Given the description of an element on the screen output the (x, y) to click on. 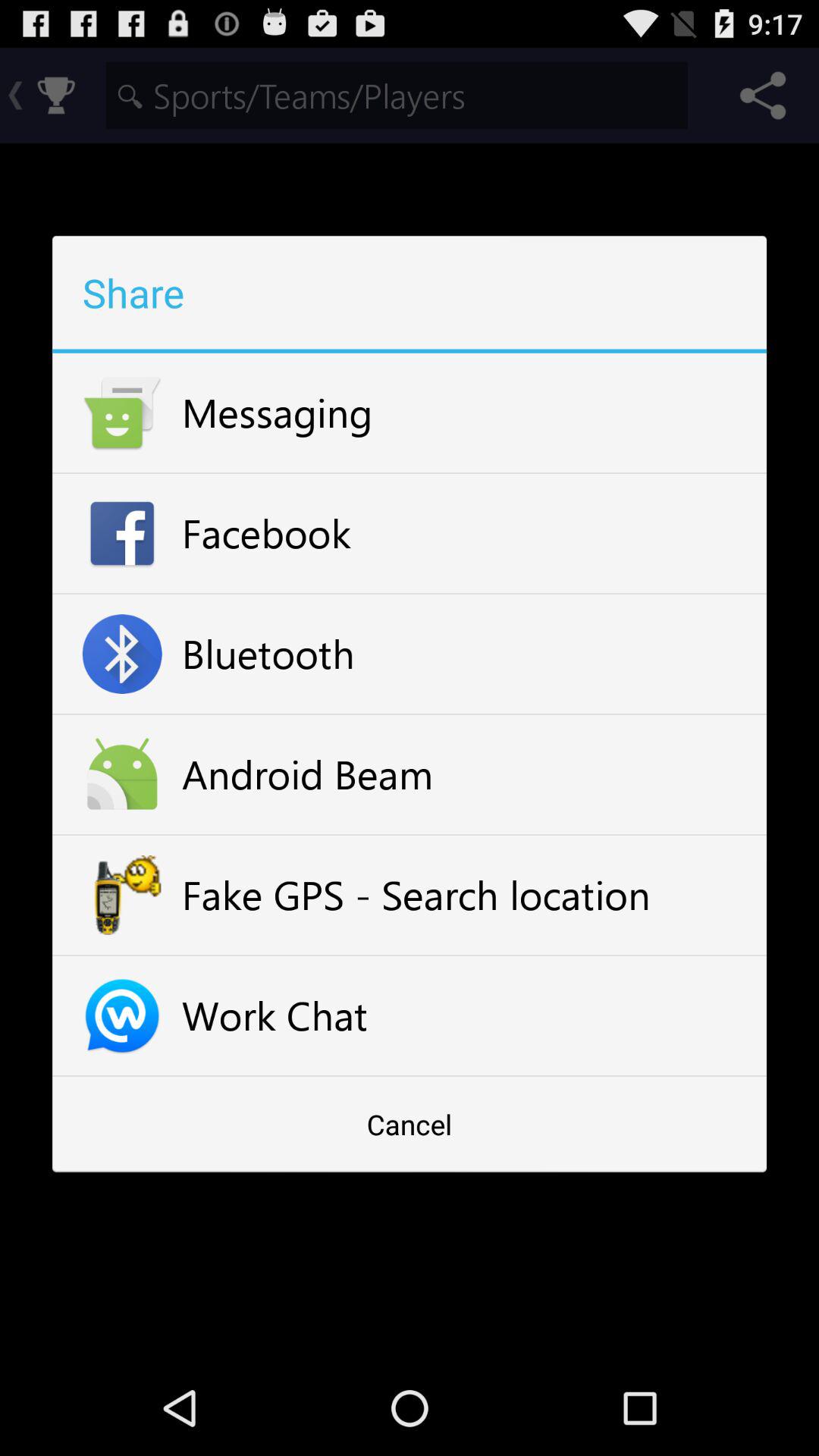
flip until the cancel button (409, 1124)
